Given the description of an element on the screen output the (x, y) to click on. 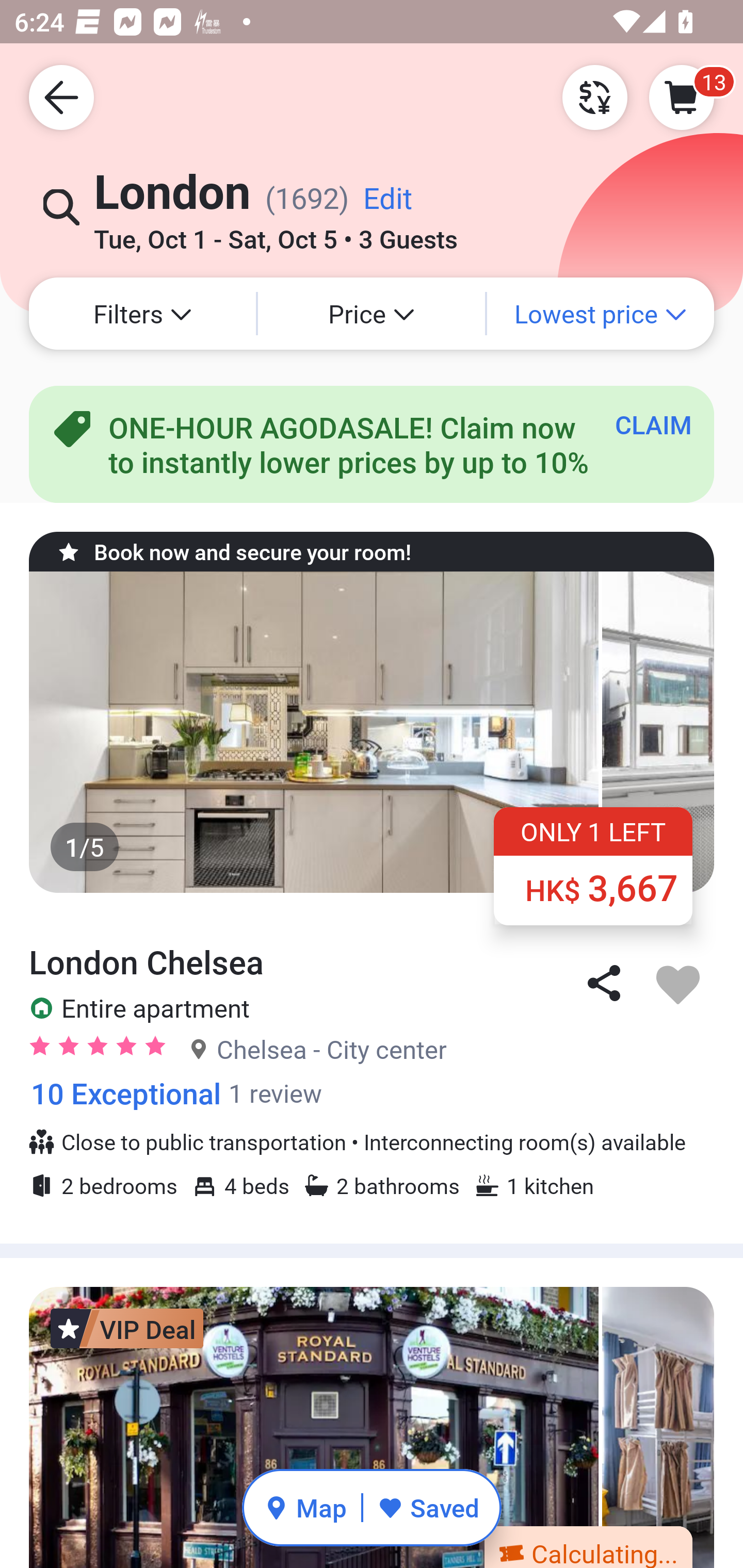
Tue, Oct 1 - Sat, Oct 5 • 3 Guests (275, 232)
Filters (141, 313)
Price (371, 313)
Lowest price (600, 313)
CLAIM (653, 424)
1/5 (371, 731)
ONLY 1 LEFT ‪HK$ 3,667 (593, 866)
VIP Deal (126, 1328)
Map (305, 1507)
Saved (428, 1507)
Calculating... (588, 1546)
